Given the description of an element on the screen output the (x, y) to click on. 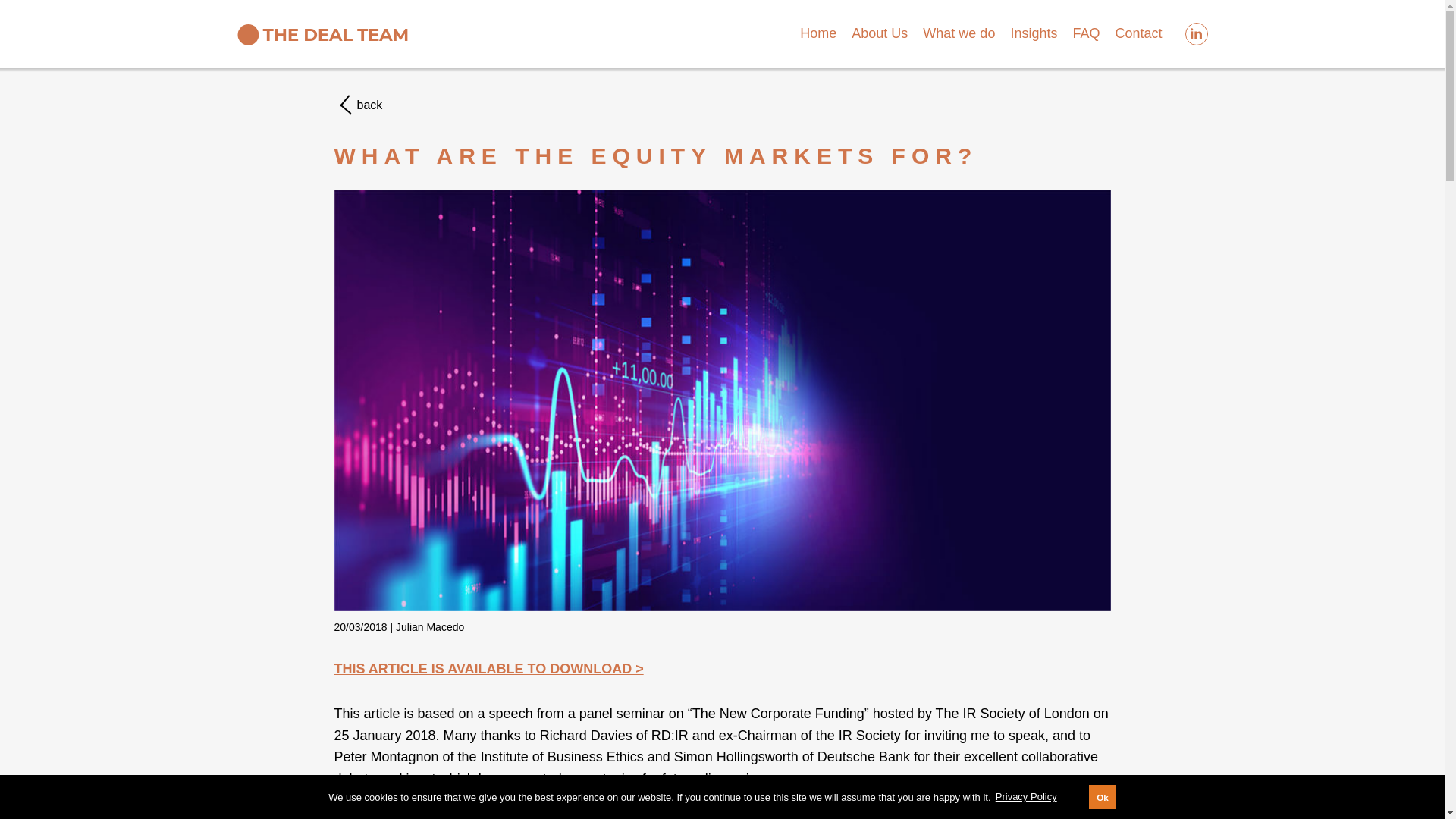
FAQ (1085, 33)
Privacy Policy (1025, 797)
Home (817, 33)
Insights (1033, 33)
About Us (879, 33)
What we do (958, 33)
Ok (1102, 796)
Contact (1138, 33)
back (721, 102)
The Deal Team: (321, 33)
